Given the description of an element on the screen output the (x, y) to click on. 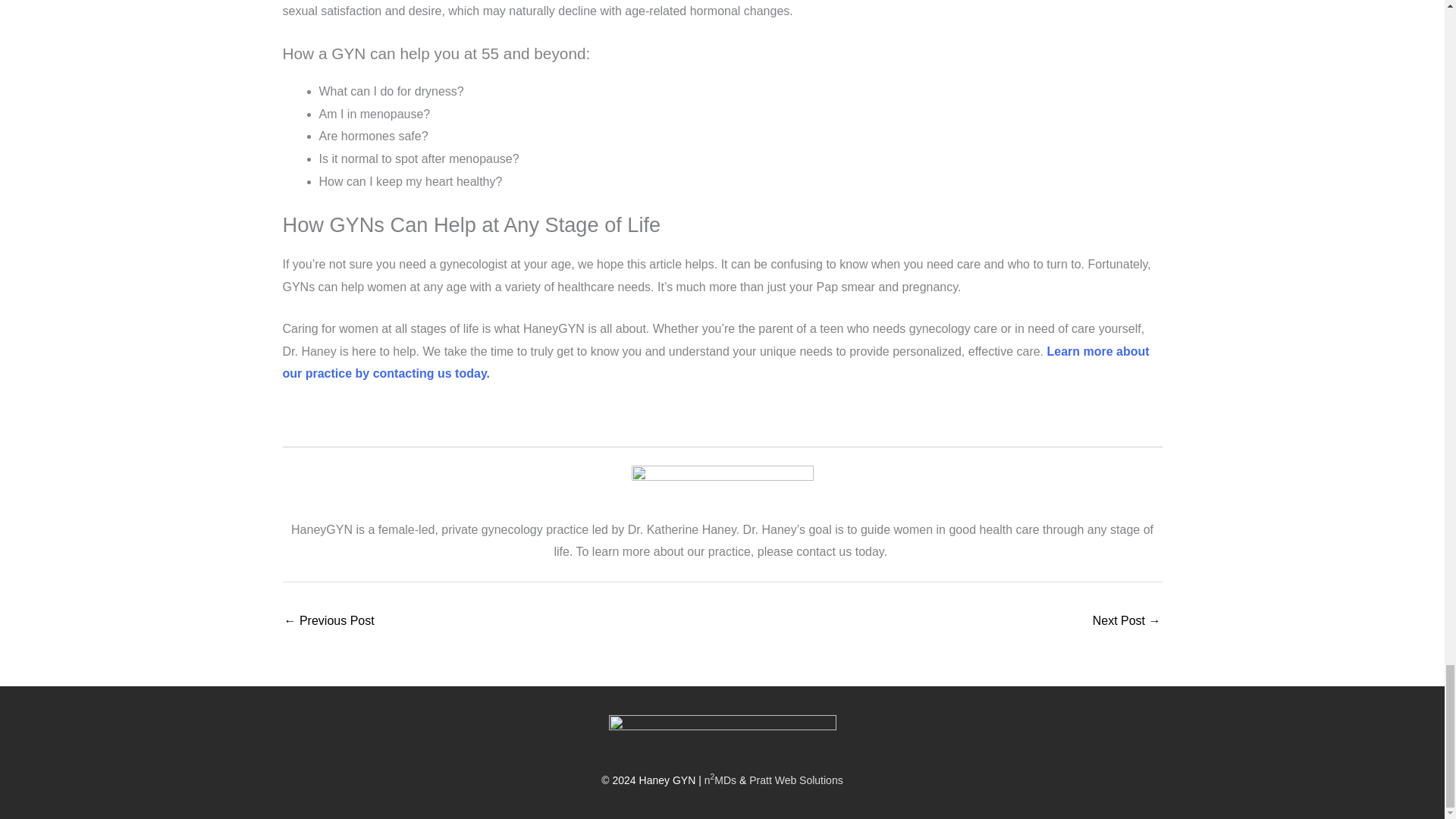
Female Hormone Basics: What You Need To Know (328, 622)
Haney GYN Frequently Asked Questions (1126, 622)
n2MDs (720, 779)
Pratt Web Solutions (796, 779)
Learn more about our practice by contacting us today.  (715, 362)
